Given the description of an element on the screen output the (x, y) to click on. 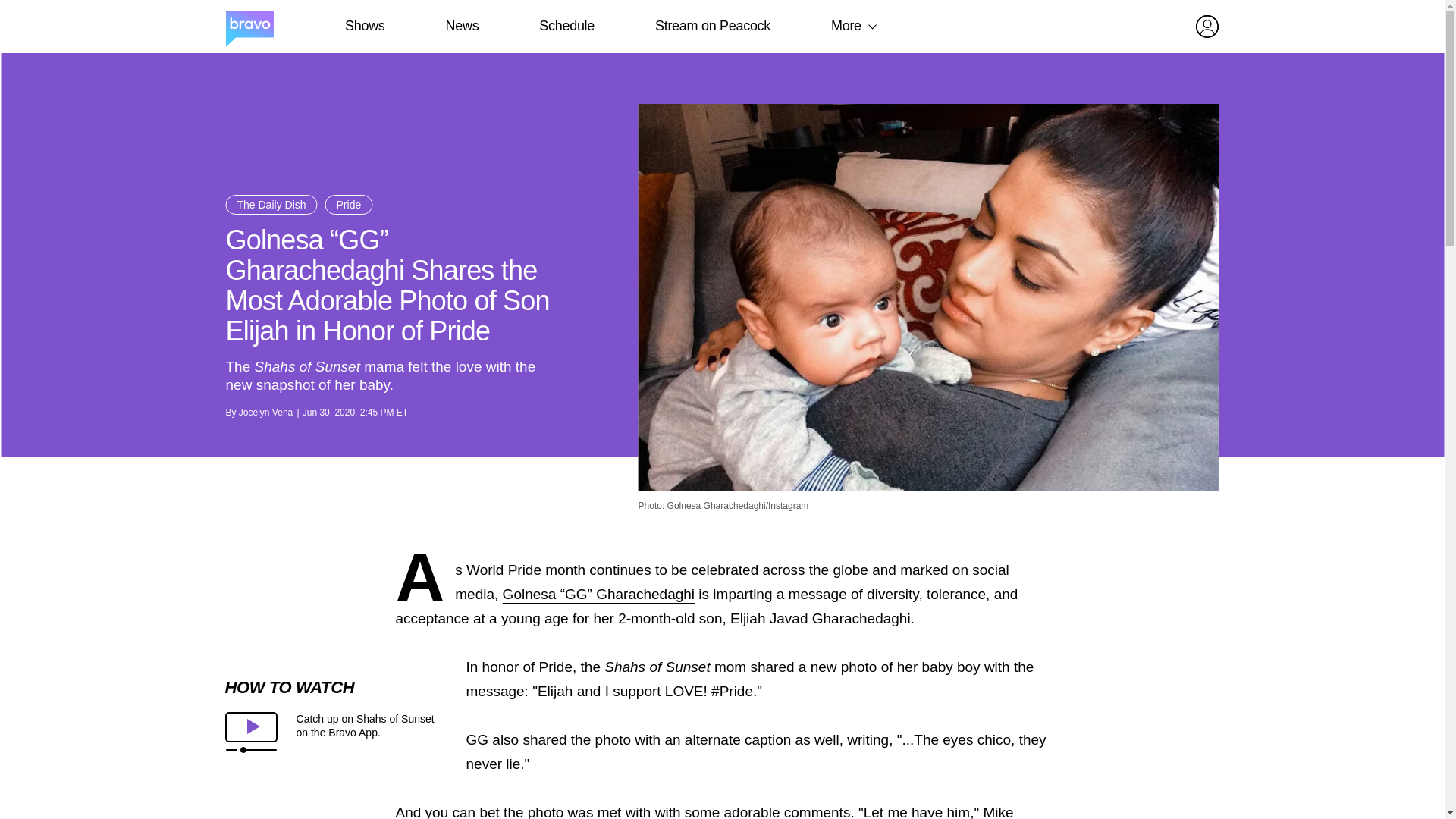
Stream on Peacock (712, 26)
News (462, 26)
Bravo App (353, 732)
More (846, 26)
Jocelyn Vena (265, 412)
The Daily Dish (271, 204)
comments (817, 811)
Mike Shouhed (704, 811)
Schedule (566, 26)
